Given the description of an element on the screen output the (x, y) to click on. 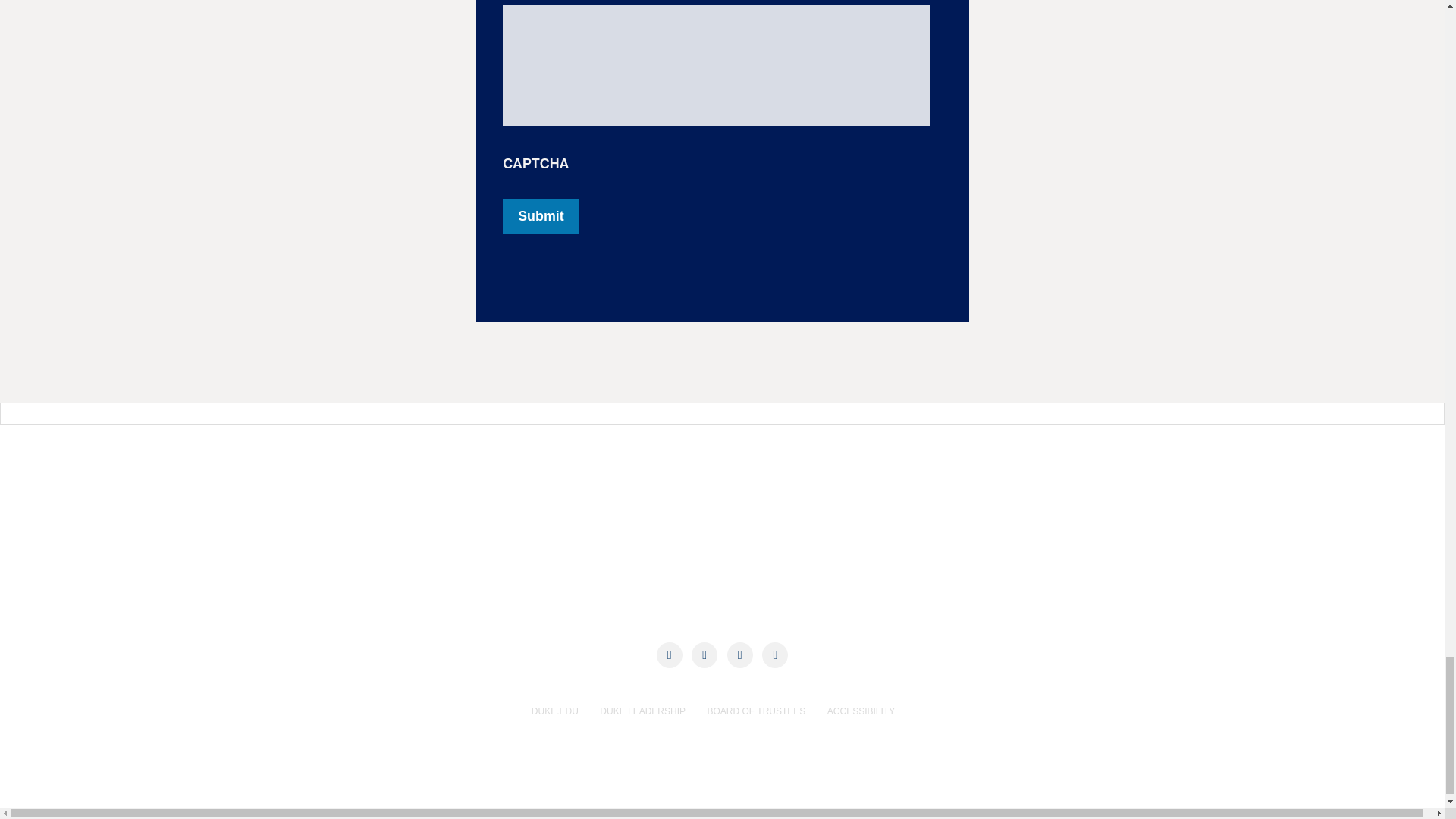
Duke (342, 507)
Twitter (704, 655)
Facebook (669, 655)
Submit (540, 216)
Instagram (739, 655)
Submit (540, 216)
